Given the description of an element on the screen output the (x, y) to click on. 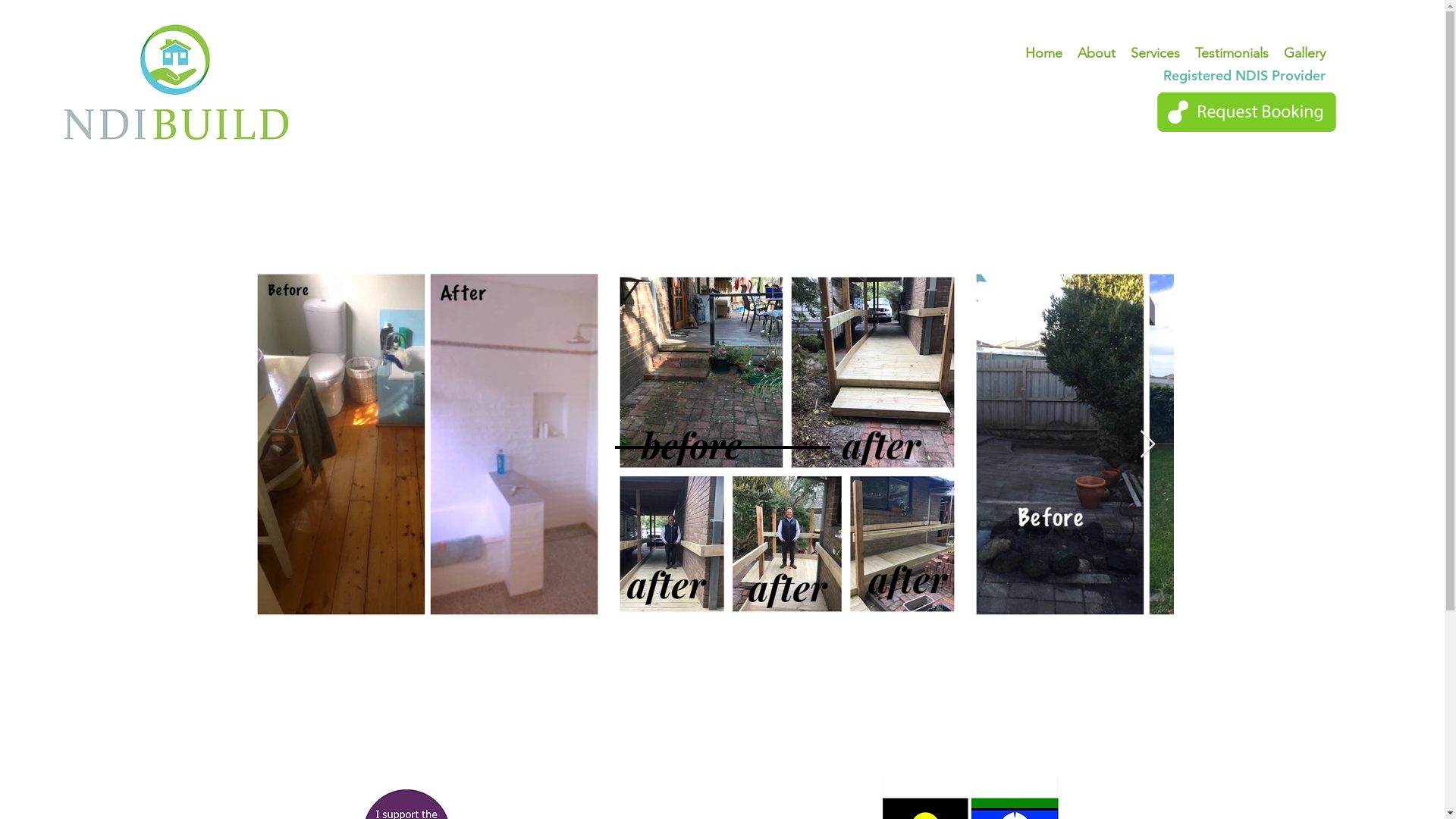
Testimonials Element type: text (1231, 52)
Home Element type: text (1043, 52)
About Element type: text (1096, 52)
Gallery Element type: text (1304, 52)
Services Element type: text (1155, 52)
